Given the description of an element on the screen output the (x, y) to click on. 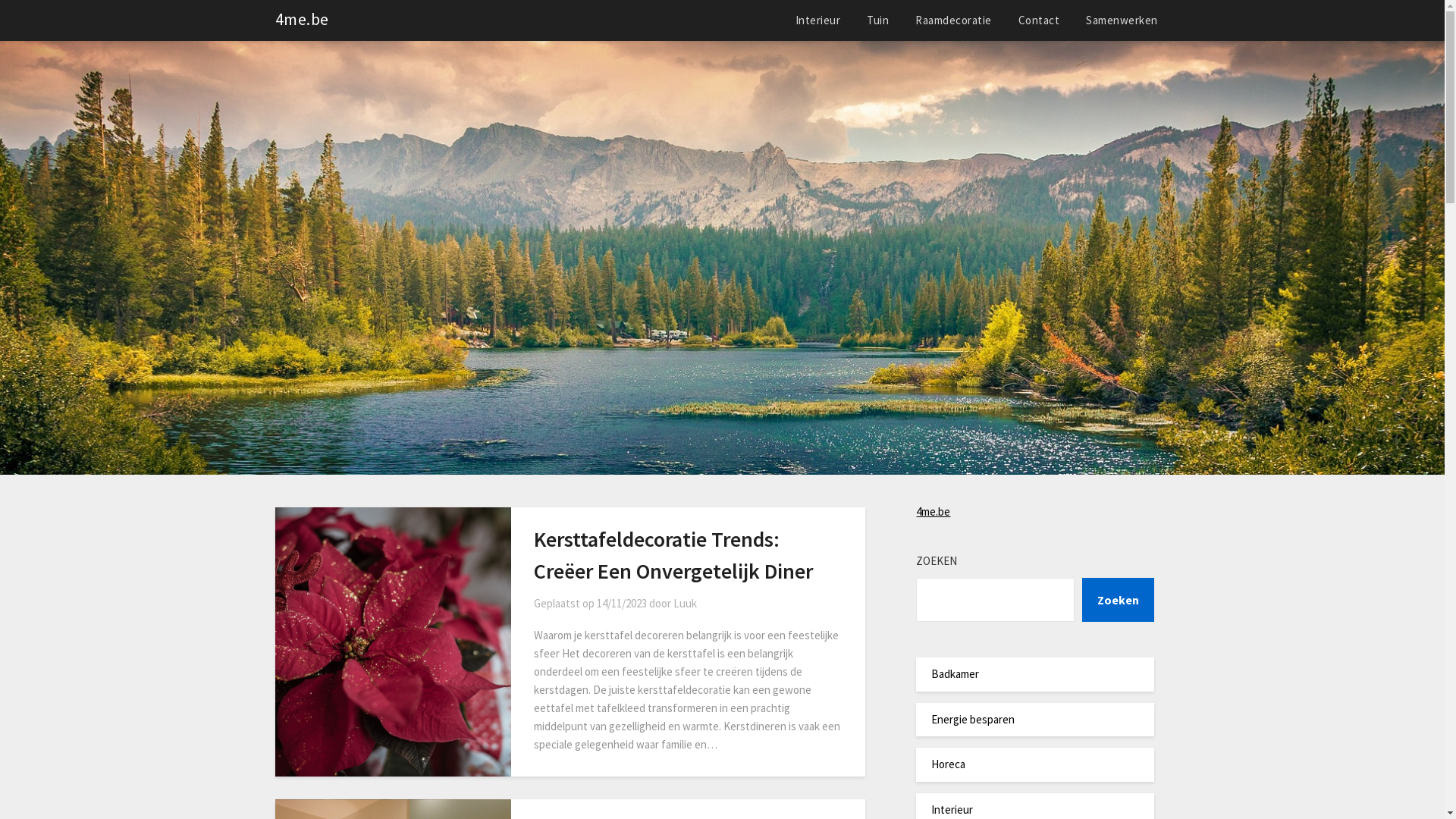
Badkamer Element type: text (955, 673)
Tuin Element type: text (877, 20)
Contact Element type: text (1038, 20)
Energie besparen Element type: text (972, 719)
Raamdecoratie Element type: text (953, 20)
Interieur Element type: text (817, 20)
Zoeken Element type: text (1118, 599)
14/11/2023 Element type: text (621, 603)
Horeca Element type: text (948, 763)
4me.be Element type: text (301, 19)
Interieur Element type: text (951, 809)
Luuk Element type: text (684, 603)
4me.be Element type: text (933, 511)
Samenwerken Element type: text (1121, 20)
